Given the description of an element on the screen output the (x, y) to click on. 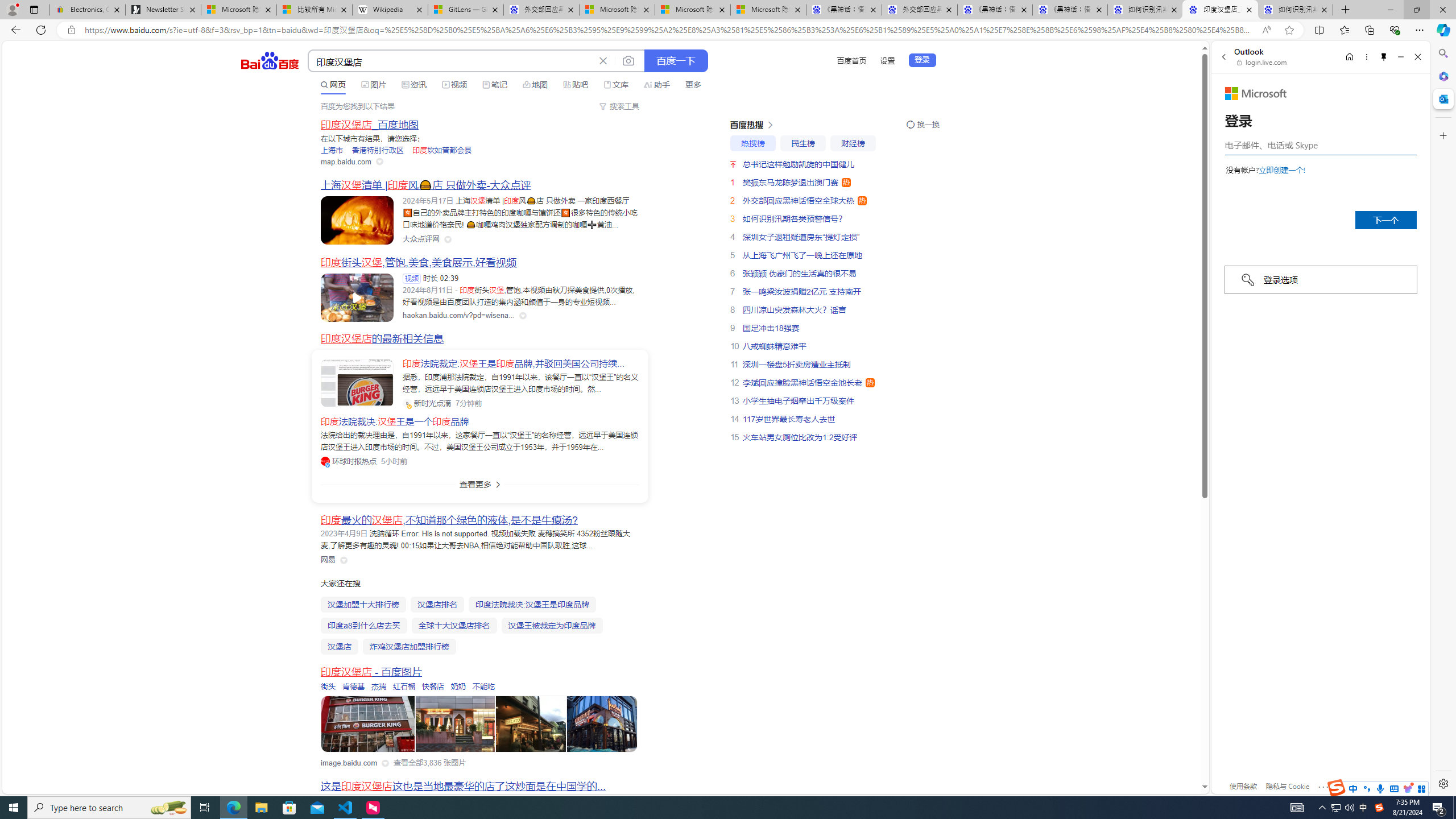
Customize (1442, 135)
